Given the description of an element on the screen output the (x, y) to click on. 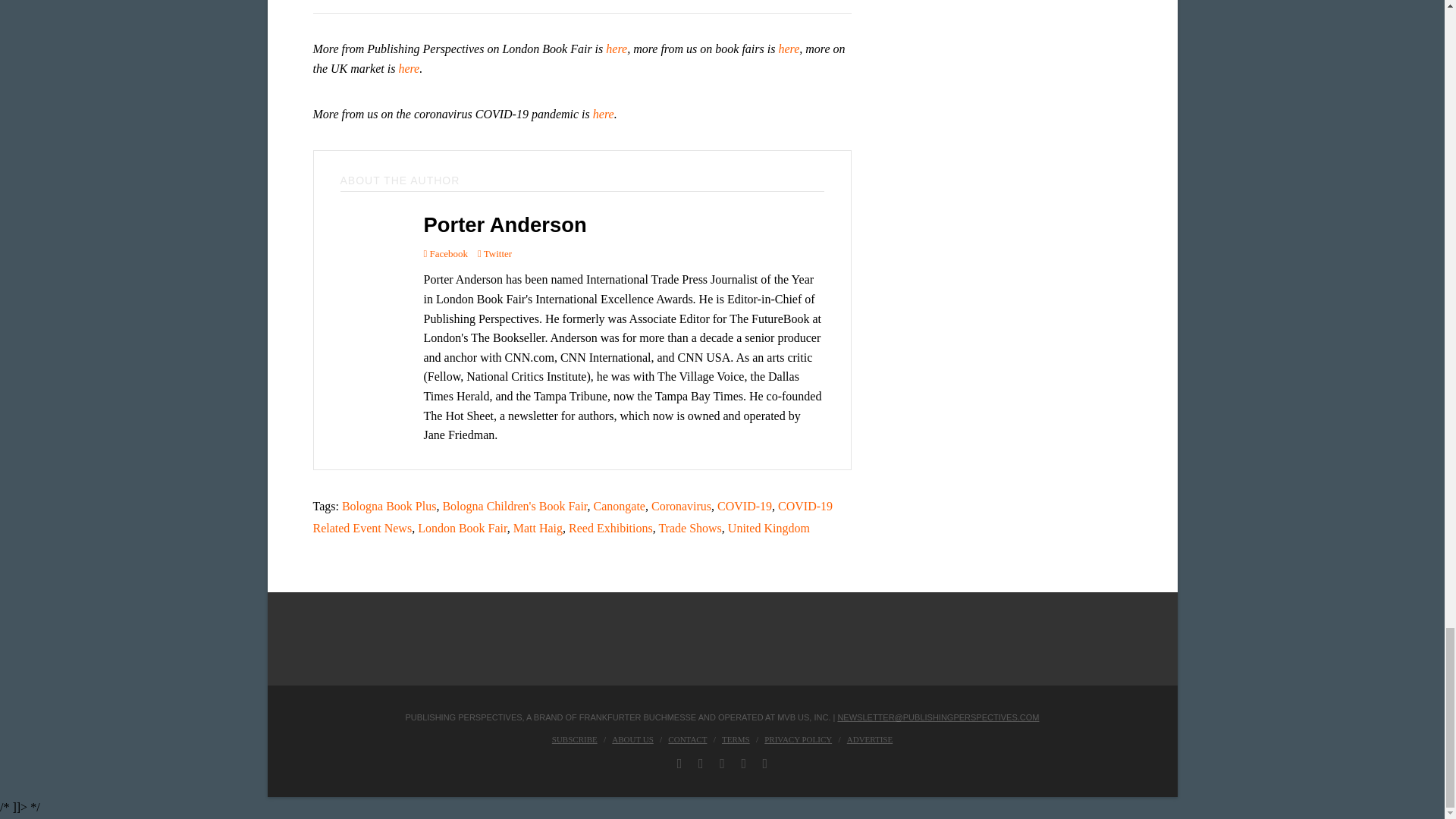
Visit the Twitter Profile for Porter Anderson (494, 253)
RSS (765, 763)
YouTube (743, 763)
LinkedIn (722, 763)
Terms and Conditions (735, 738)
Twitter (700, 763)
Visit the Facebook Profile for Porter Anderson (445, 253)
Facebook (679, 763)
Subscribe to Publishing Perspectives (573, 738)
